Given the description of an element on the screen output the (x, y) to click on. 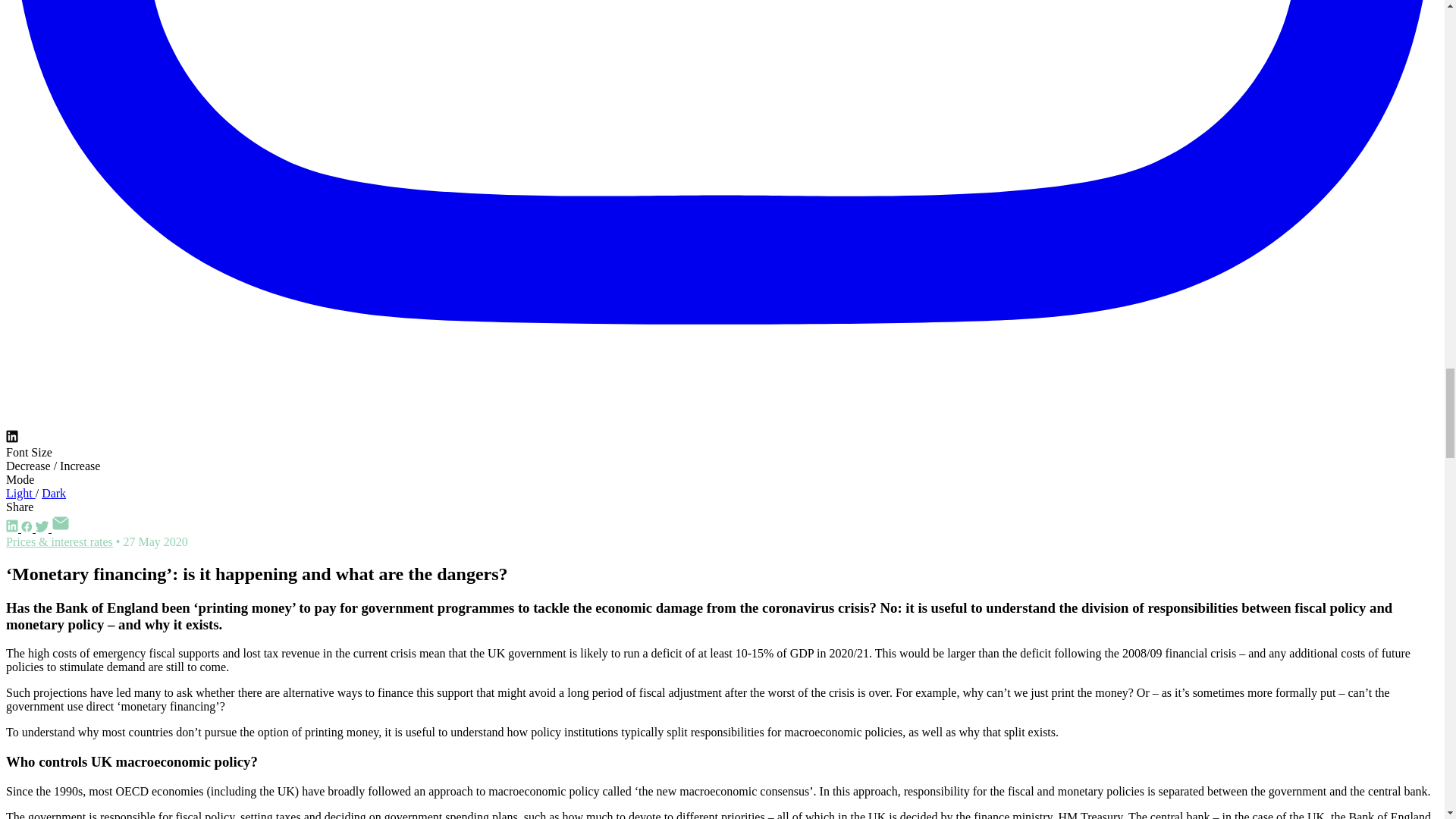
Dark (53, 492)
Light (19, 492)
Increase (79, 465)
Decrease (29, 465)
